Given the description of an element on the screen output the (x, y) to click on. 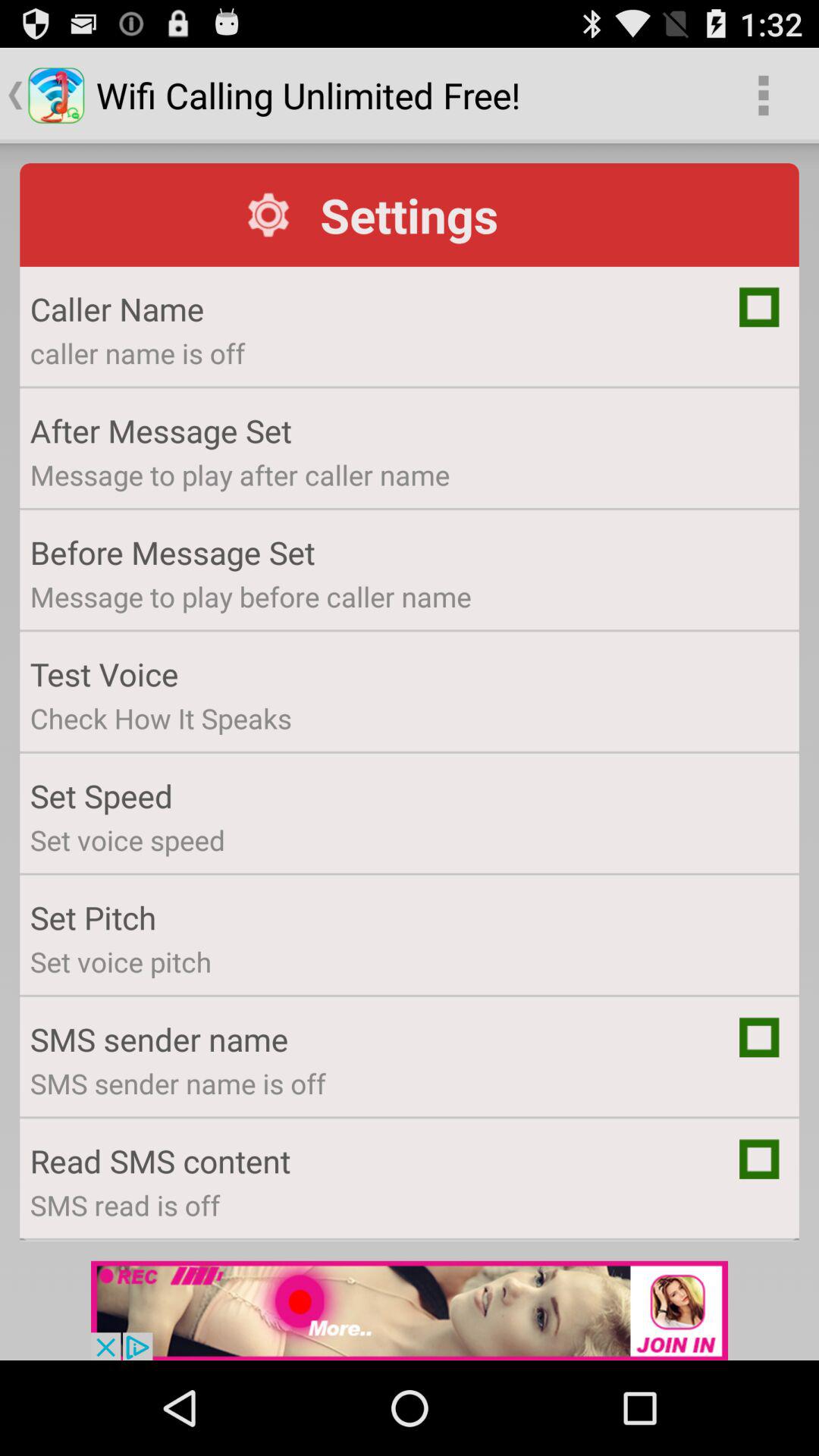
toggle on/off (759, 1159)
